Given the description of an element on the screen output the (x, y) to click on. 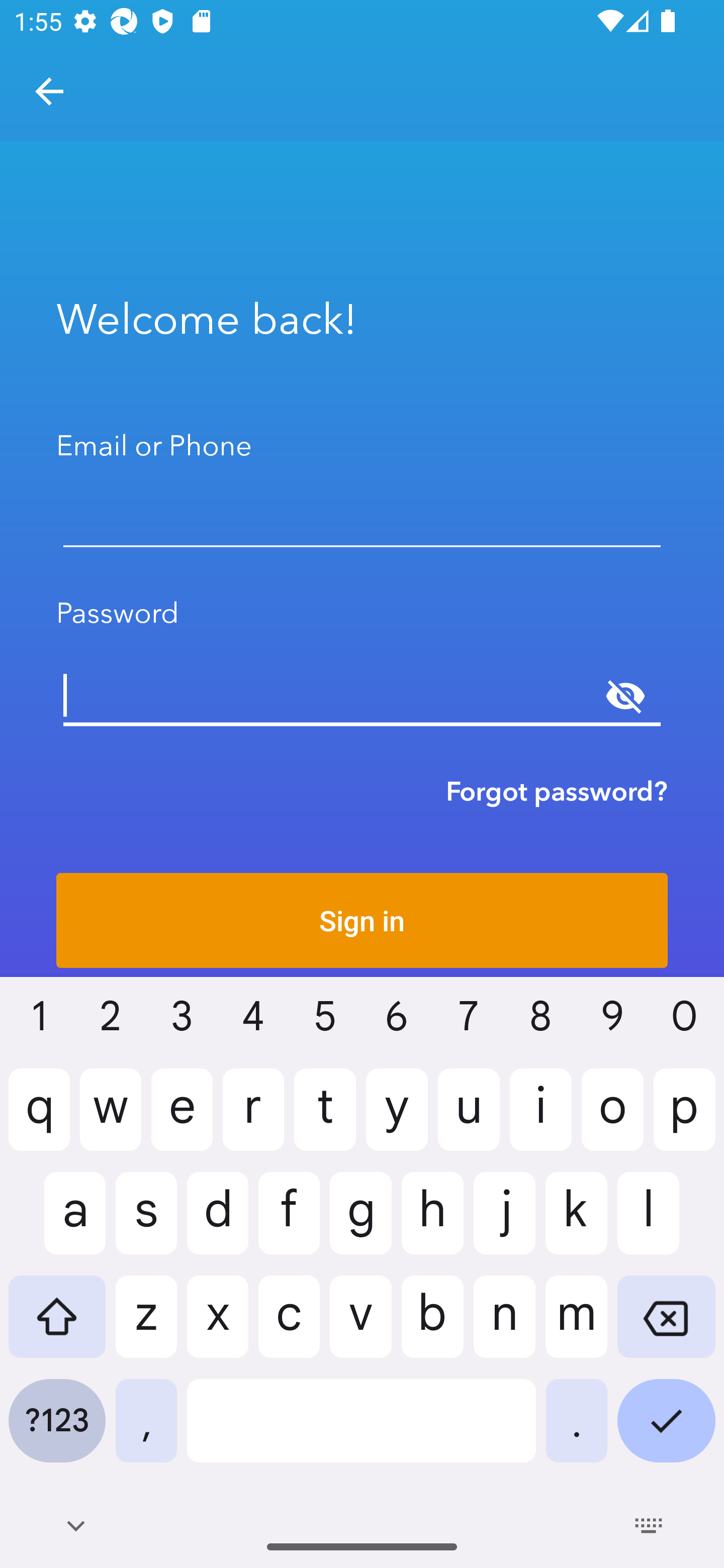
Navigate up (49, 91)
Show password (625, 695)
Forgot password? (556, 790)
Sign in (361, 920)
